Given the description of an element on the screen output the (x, y) to click on. 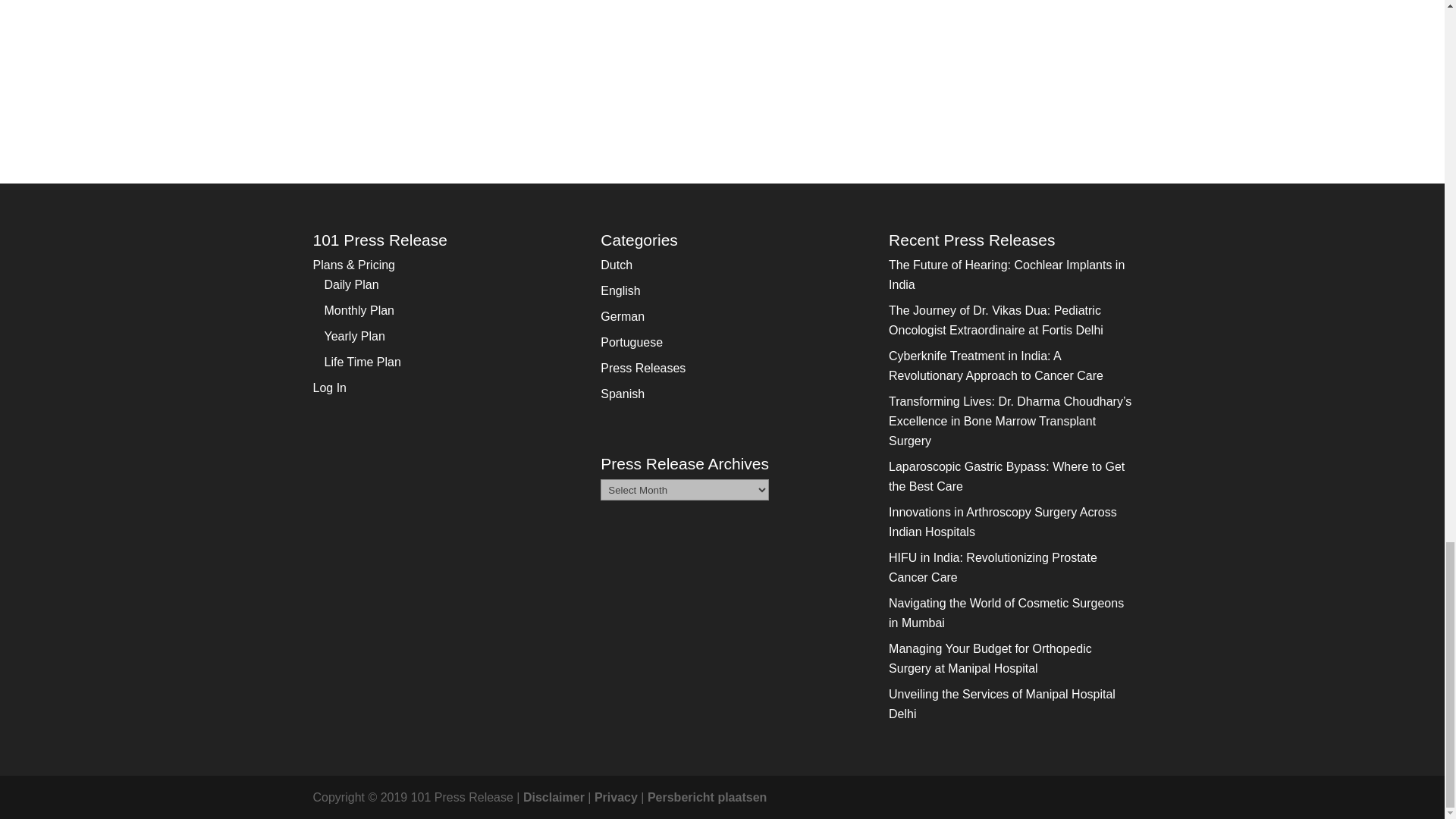
Portuguese (630, 341)
Life Time Plan (362, 361)
Disclaimer (553, 797)
Press Releases (642, 367)
Privacy (615, 797)
Navigating the World of Cosmetic Surgeons in Mumbai (1006, 613)
Dutch (615, 264)
English (619, 290)
Monthly Plan (359, 309)
